Given the description of an element on the screen output the (x, y) to click on. 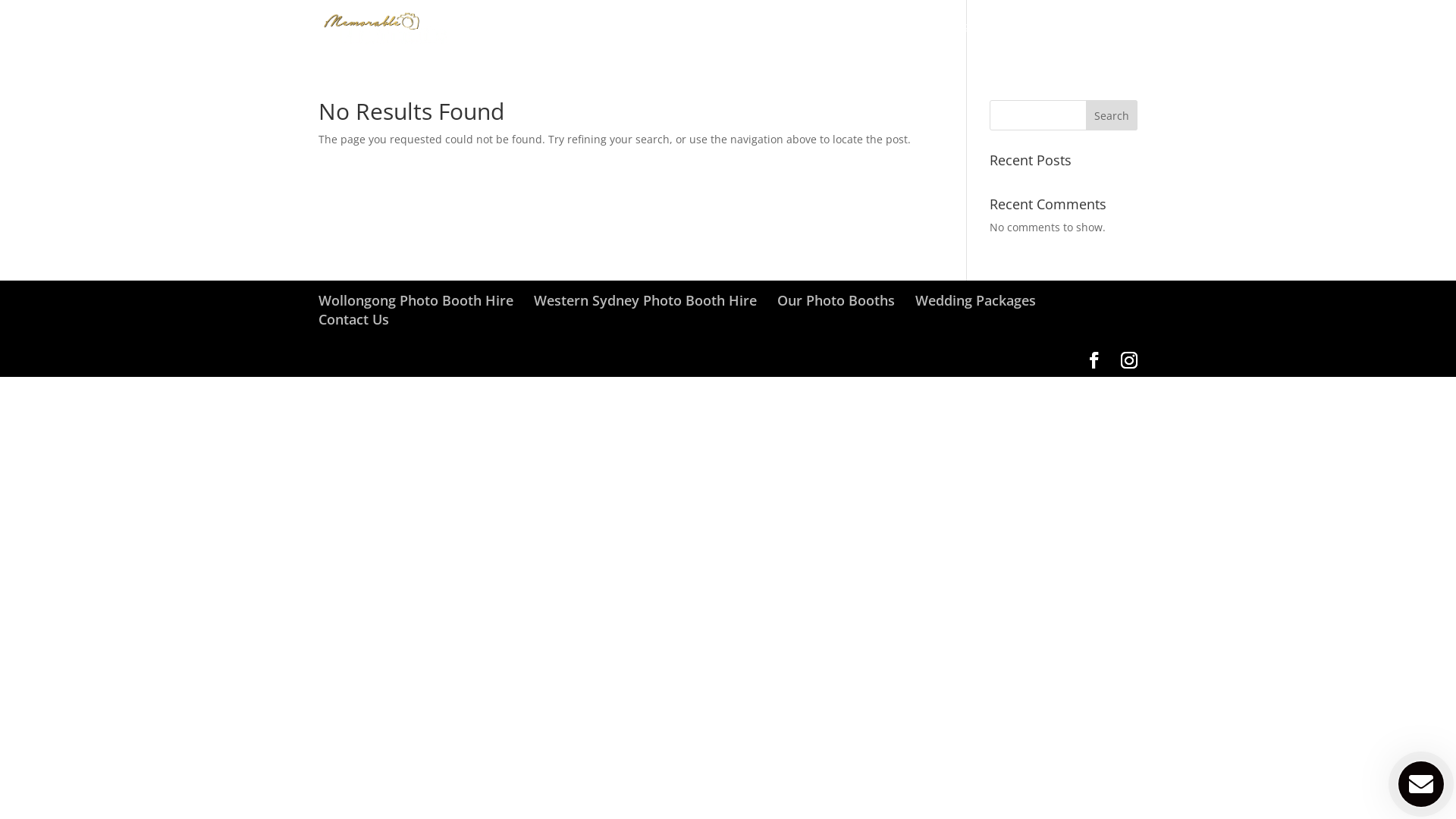
HOME Element type: text (682, 39)
Search Element type: text (1111, 115)
Wollongong Photo Booth Hire Element type: text (415, 300)
PHOTO BOOTHS Element type: text (759, 39)
PACKAGES Element type: text (846, 39)
0434 629 764 Element type: text (1097, 39)
TESTIMONIALS Element type: text (930, 39)
CONTACT Element type: text (1012, 39)
Contact Us Element type: text (353, 319)
Our Photo Booths Element type: text (835, 300)
Western Sydney Photo Booth Hire Element type: text (644, 300)
Wedding Packages Element type: text (975, 300)
